Given the description of an element on the screen output the (x, y) to click on. 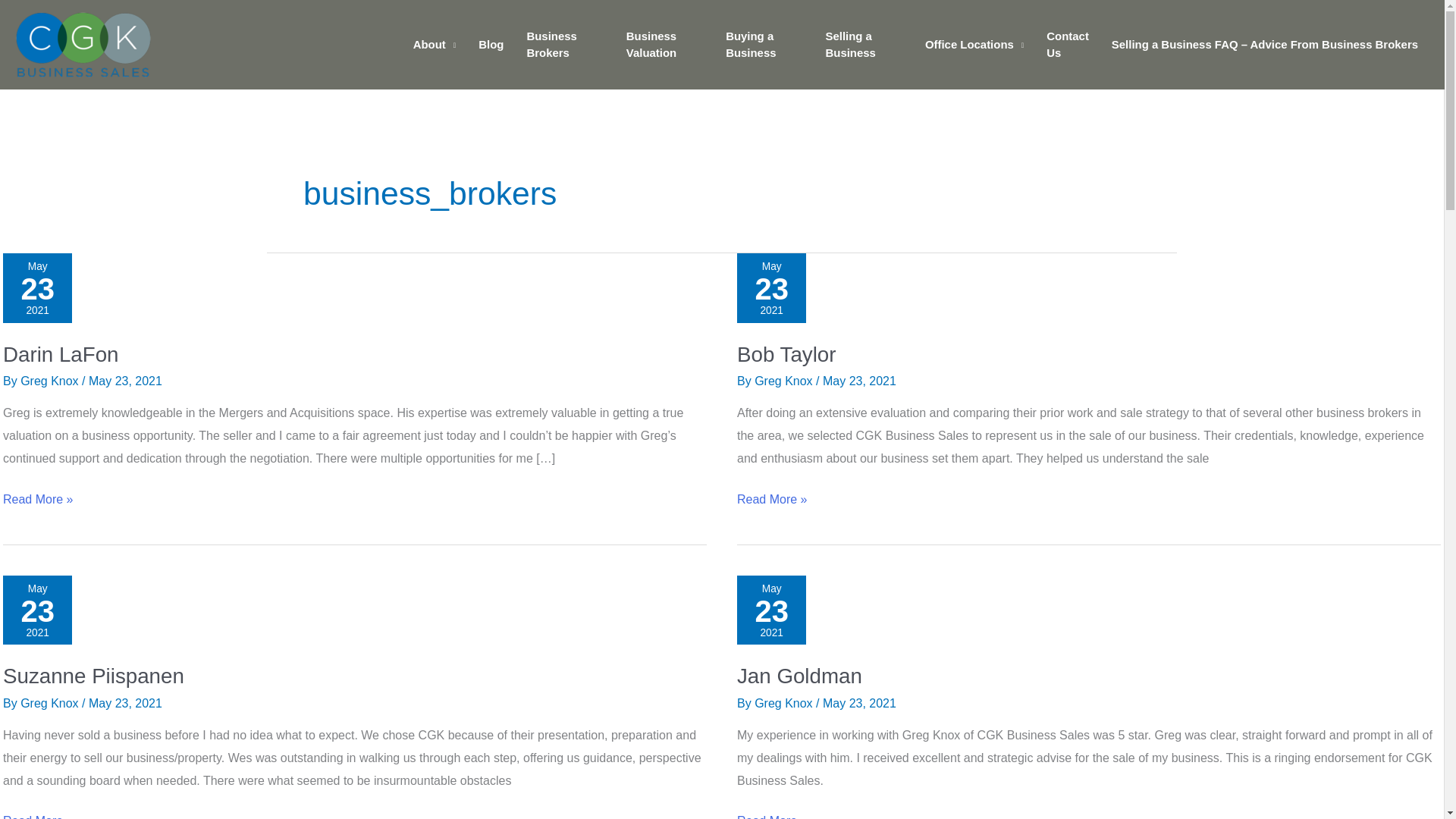
Office Locations (974, 45)
View all posts by Greg Knox (564, 45)
View all posts by Greg Knox (50, 380)
View all posts by Greg Knox (664, 45)
About (784, 380)
Blog (784, 703)
